Given the description of an element on the screen output the (x, y) to click on. 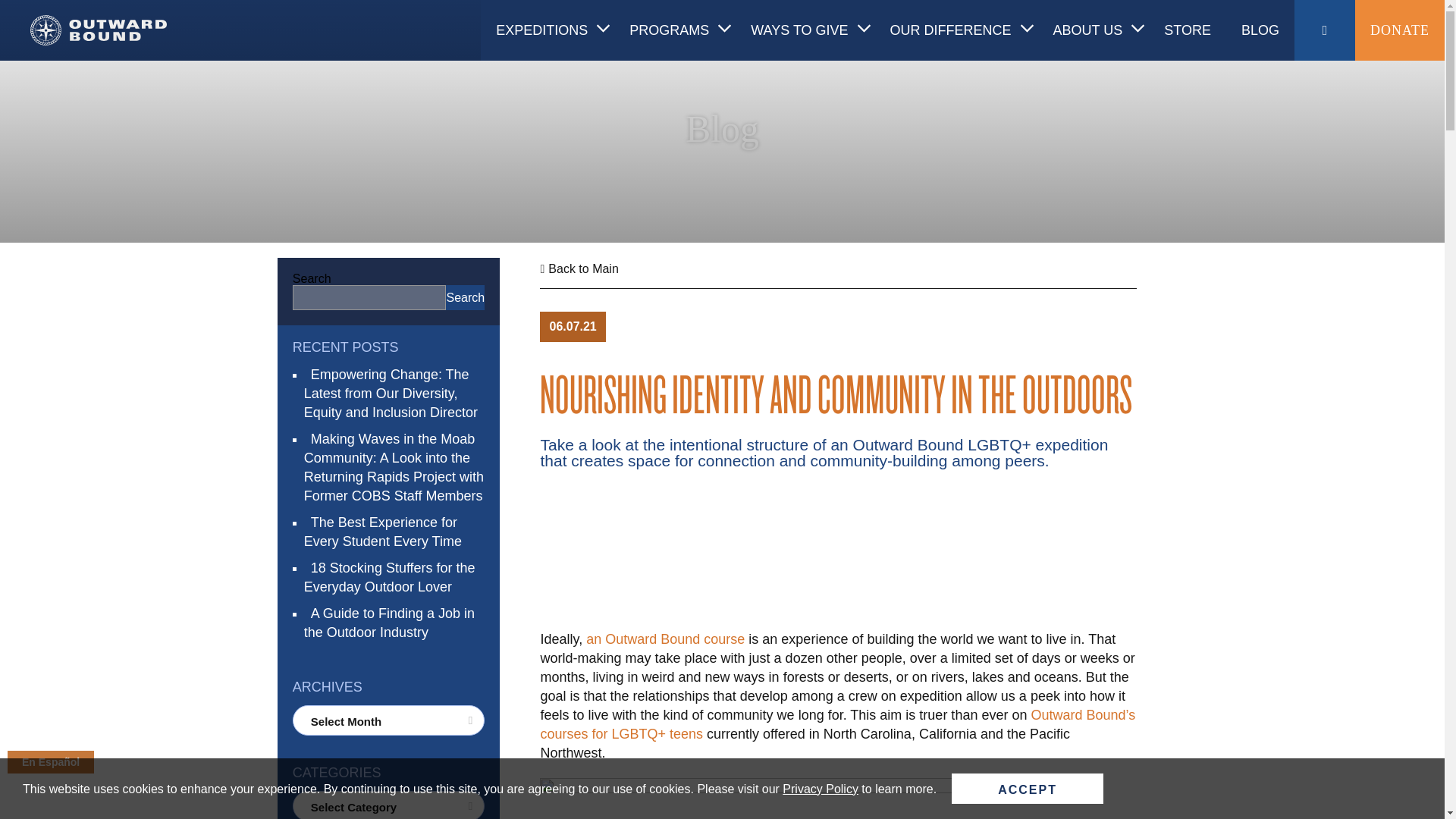
Spanish (50, 762)
